Given the description of an element on the screen output the (x, y) to click on. 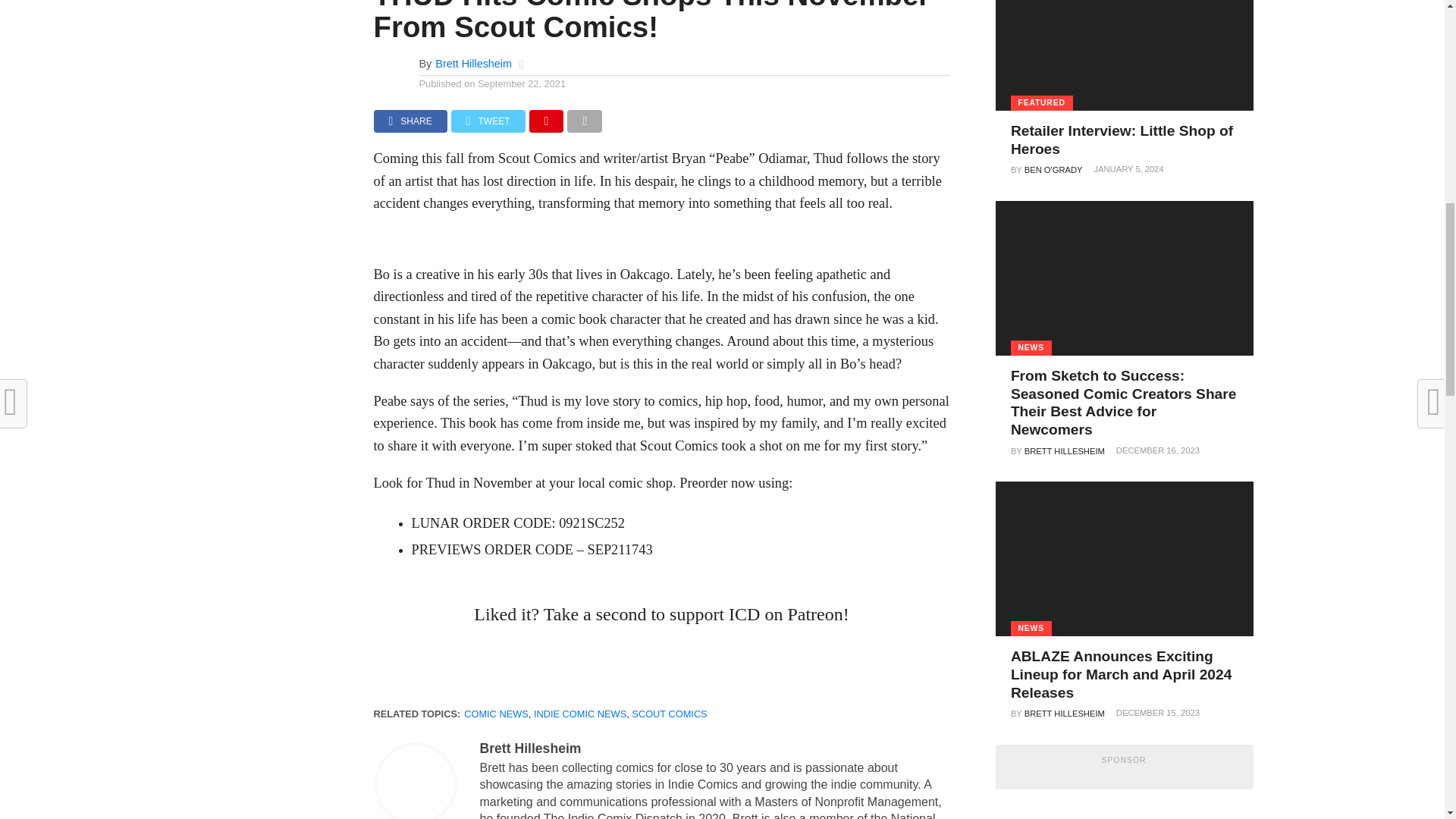
Brett Hillesheim (529, 748)
INDIE COMIC NEWS (580, 713)
Posts by Brett Hillesheim (473, 63)
Brett Hillesheim (473, 63)
COMIC NEWS (496, 713)
SCOUT COMICS (668, 713)
Posts by Brett Hillesheim (529, 748)
